Given the description of an element on the screen output the (x, y) to click on. 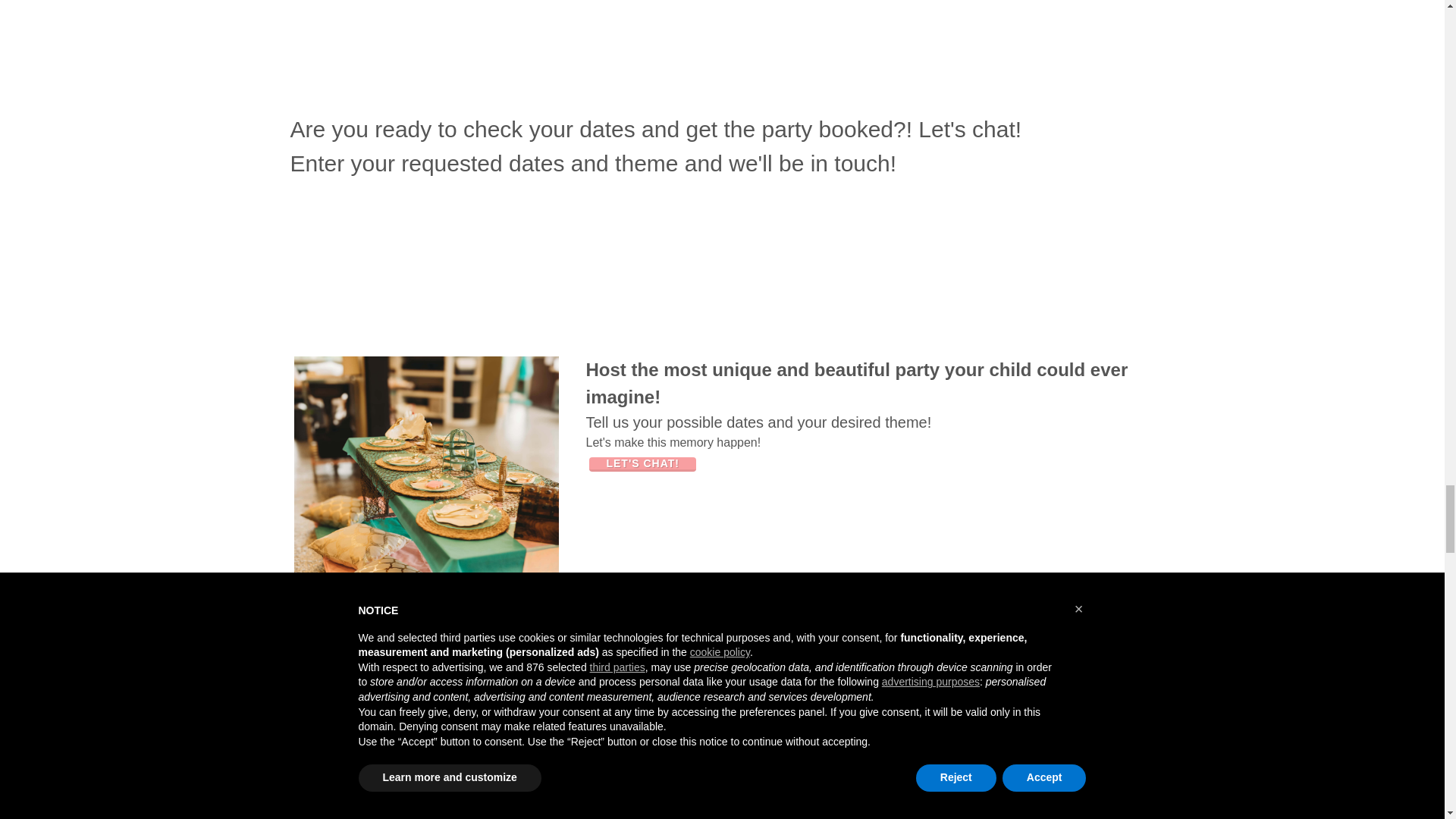
LET'S CHAT! (642, 464)
